Given the description of an element on the screen output the (x, y) to click on. 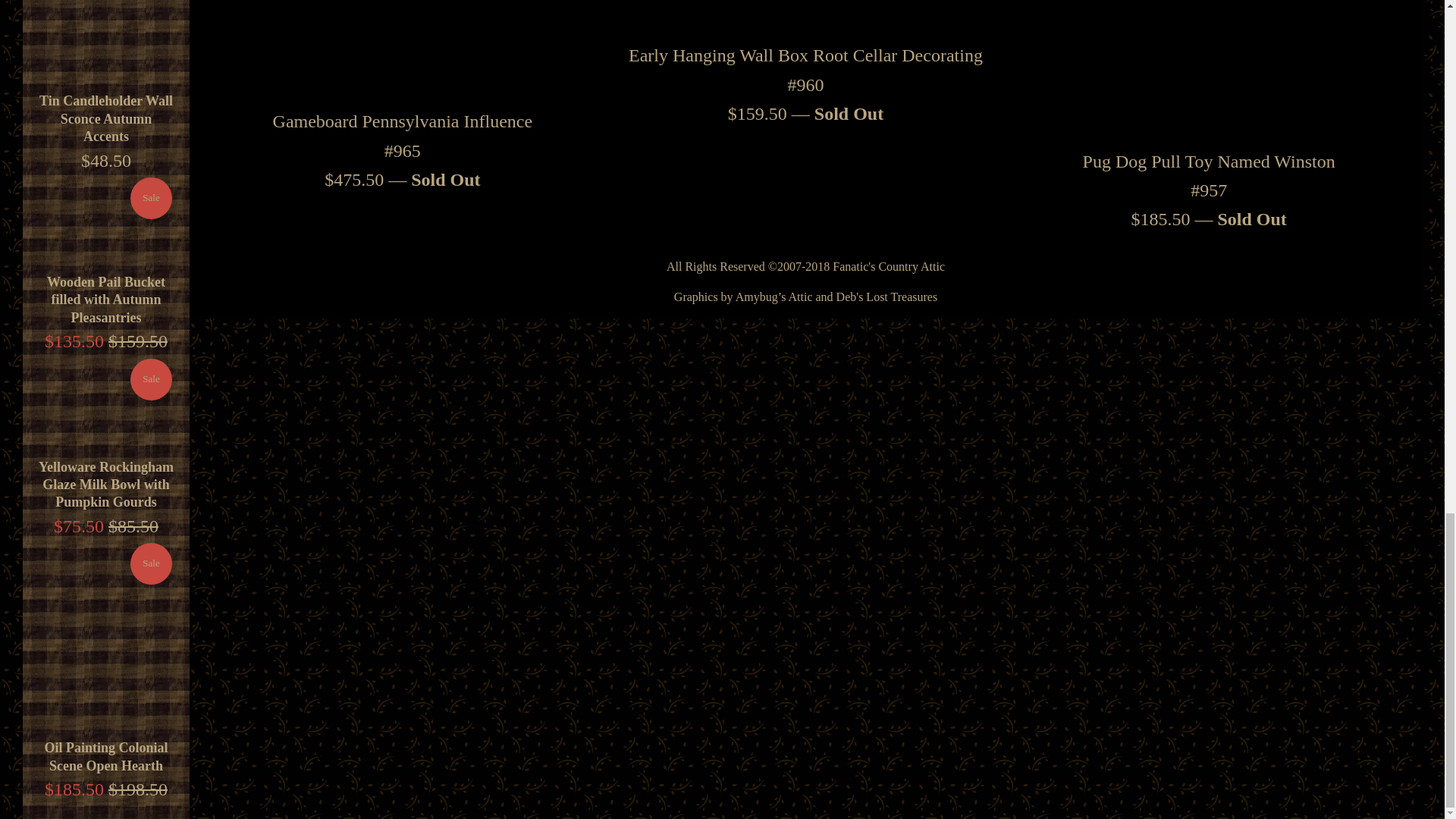
Wooden Pail Bucket filled with Autumn Pleasantries (105, 220)
Tin Candleholder Wall Sconce Autumn Accents (105, 42)
Tin Candleholder Wall Sconce Autumn Accents (106, 118)
Yelloware Rockingham Glaze Milk Bowl with Pumpkin Gourds (106, 484)
Oil Painting Colonial Scene Open Hearth (105, 756)
Pug Dog Pull Toy Named Winston (1208, 69)
Wooden Pail Bucket filled with Autumn Pleasantries (105, 299)
Gameboard Pennsylvania Influence (402, 49)
Yelloware Rockingham Glaze Milk Bowl with Pumpkin Gourds (105, 403)
Early Hanging Wall Box Root Cellar Decorating (805, 16)
